Given the description of an element on the screen output the (x, y) to click on. 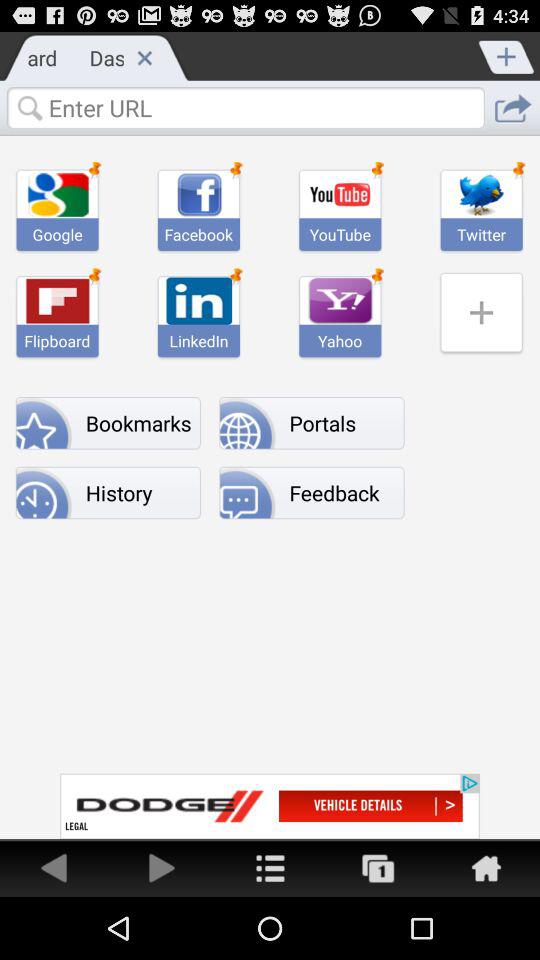
open other tab (378, 867)
